Given the description of an element on the screen output the (x, y) to click on. 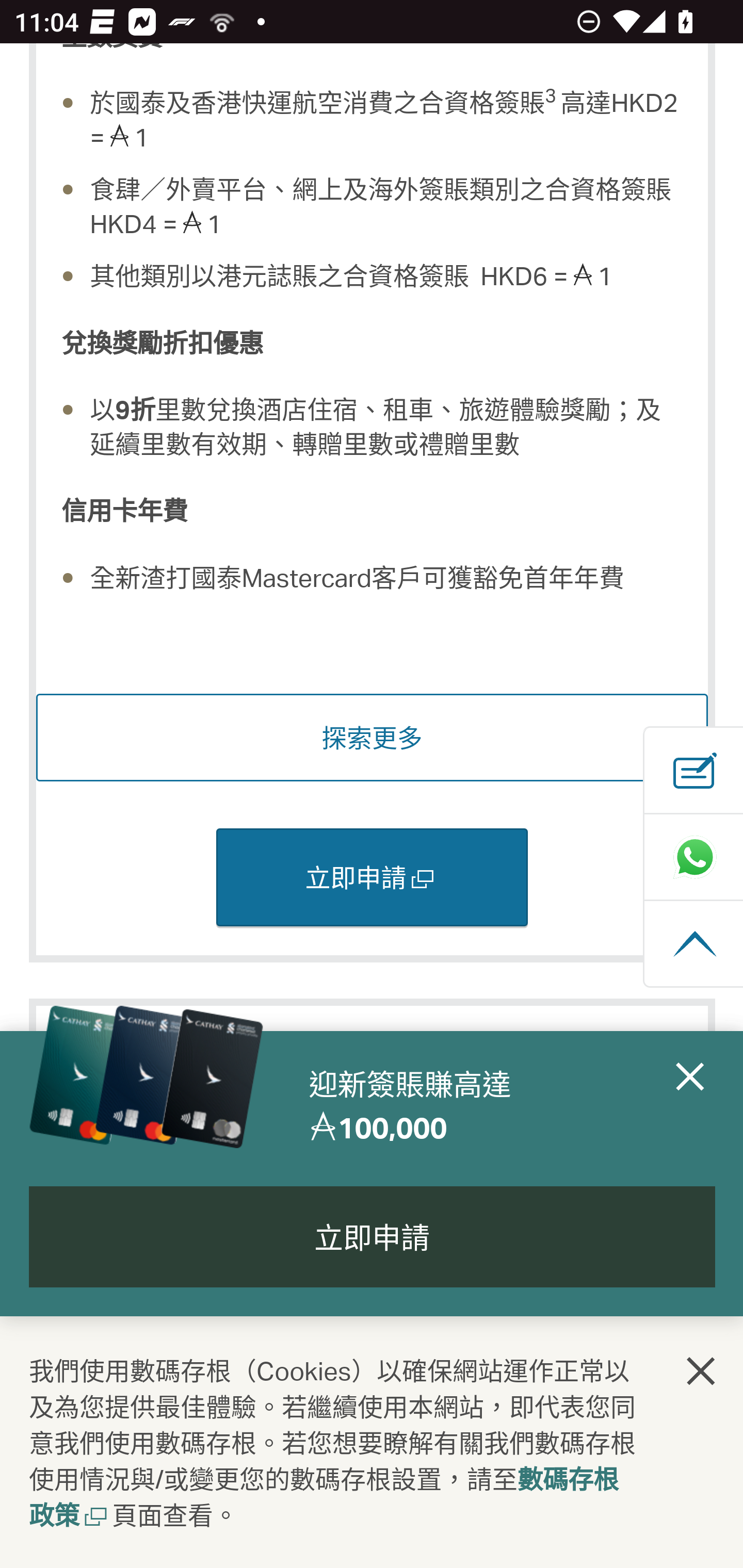
探索更多 (372, 738)
立即申請 開啟新視窗 立即申請 開啟新視窗 (371, 878)
Close (690, 1105)
關閉 (701, 1372)
數碼存根政策, 在新窗口中打开 數碼存根政策 開啟新視窗 (323, 1498)
